Given the description of an element on the screen output the (x, y) to click on. 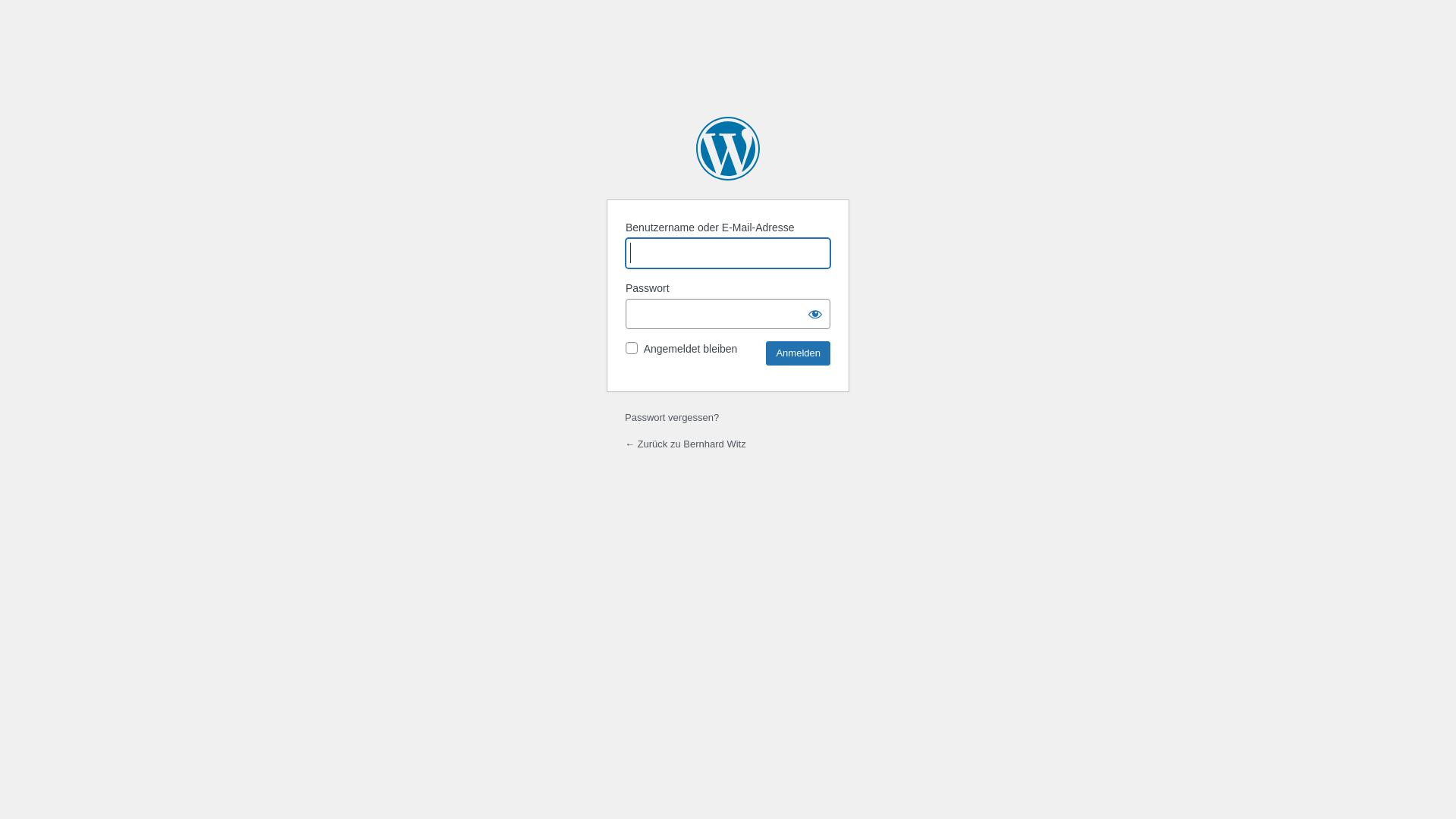
Anmelden Element type: text (797, 353)
Powered by WordPress Element type: text (727, 148)
Passwort vergessen? Element type: text (671, 417)
